Given the description of an element on the screen output the (x, y) to click on. 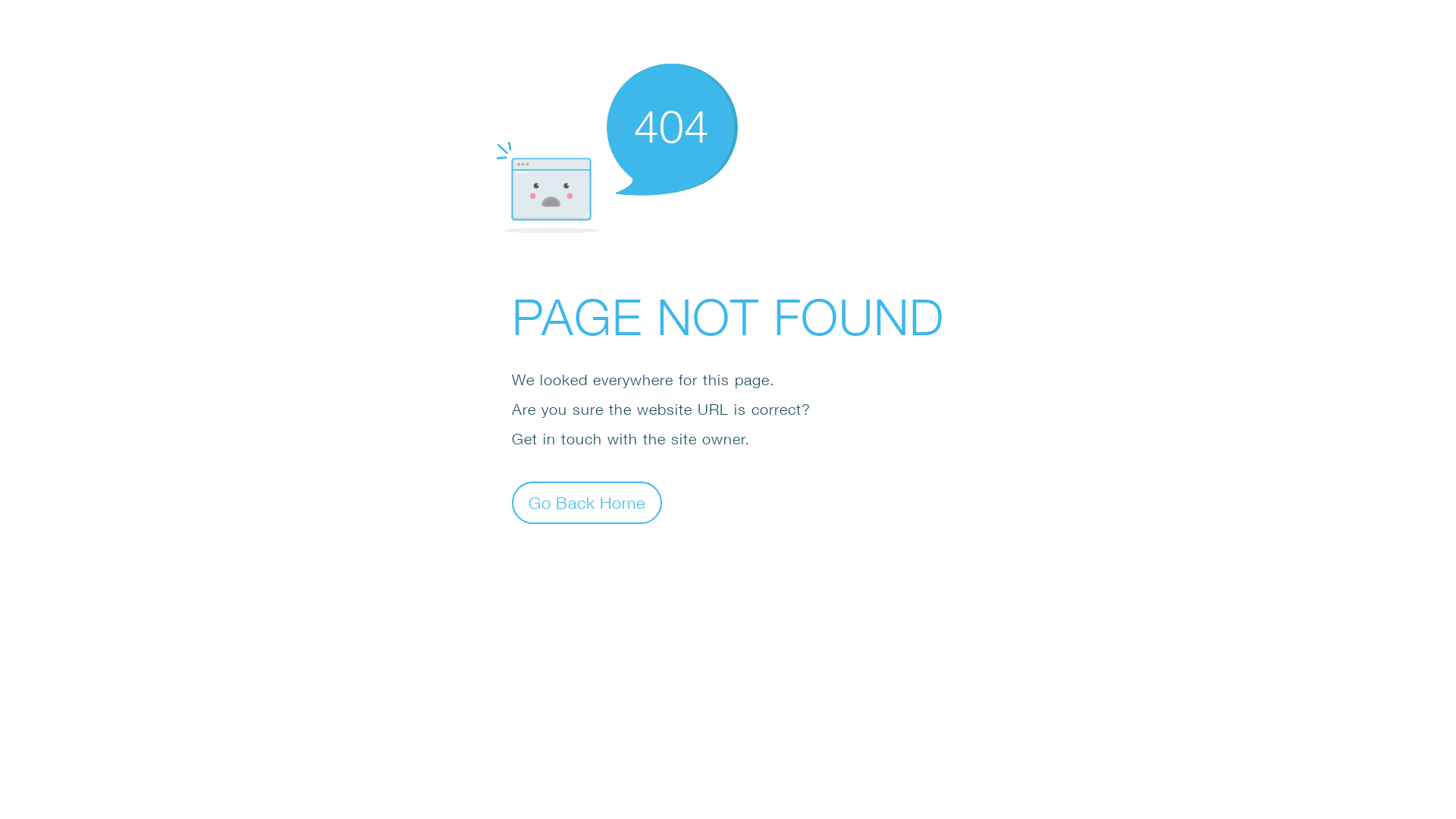
Go Back Home Element type: text (586, 502)
